Given the description of an element on the screen output the (x, y) to click on. 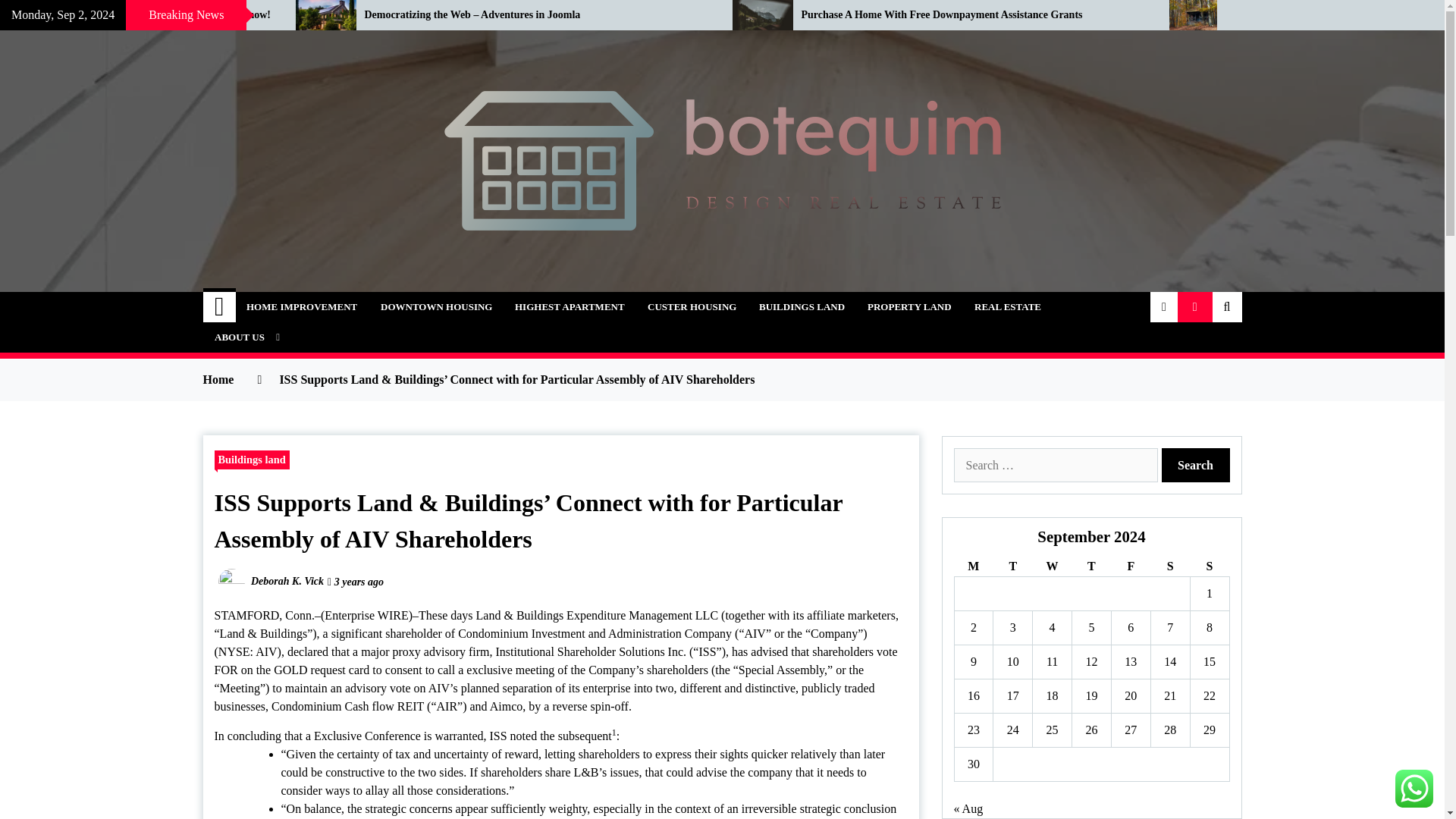
Home (219, 306)
Sunday (1208, 566)
Saturday (1169, 566)
Purchase A Home With Free Downpayment Assistance Grants (973, 15)
Monday (972, 566)
Search (1195, 464)
Tuesday (1012, 566)
Friday (1130, 566)
Wednesday (1051, 566)
